Given the description of an element on the screen output the (x, y) to click on. 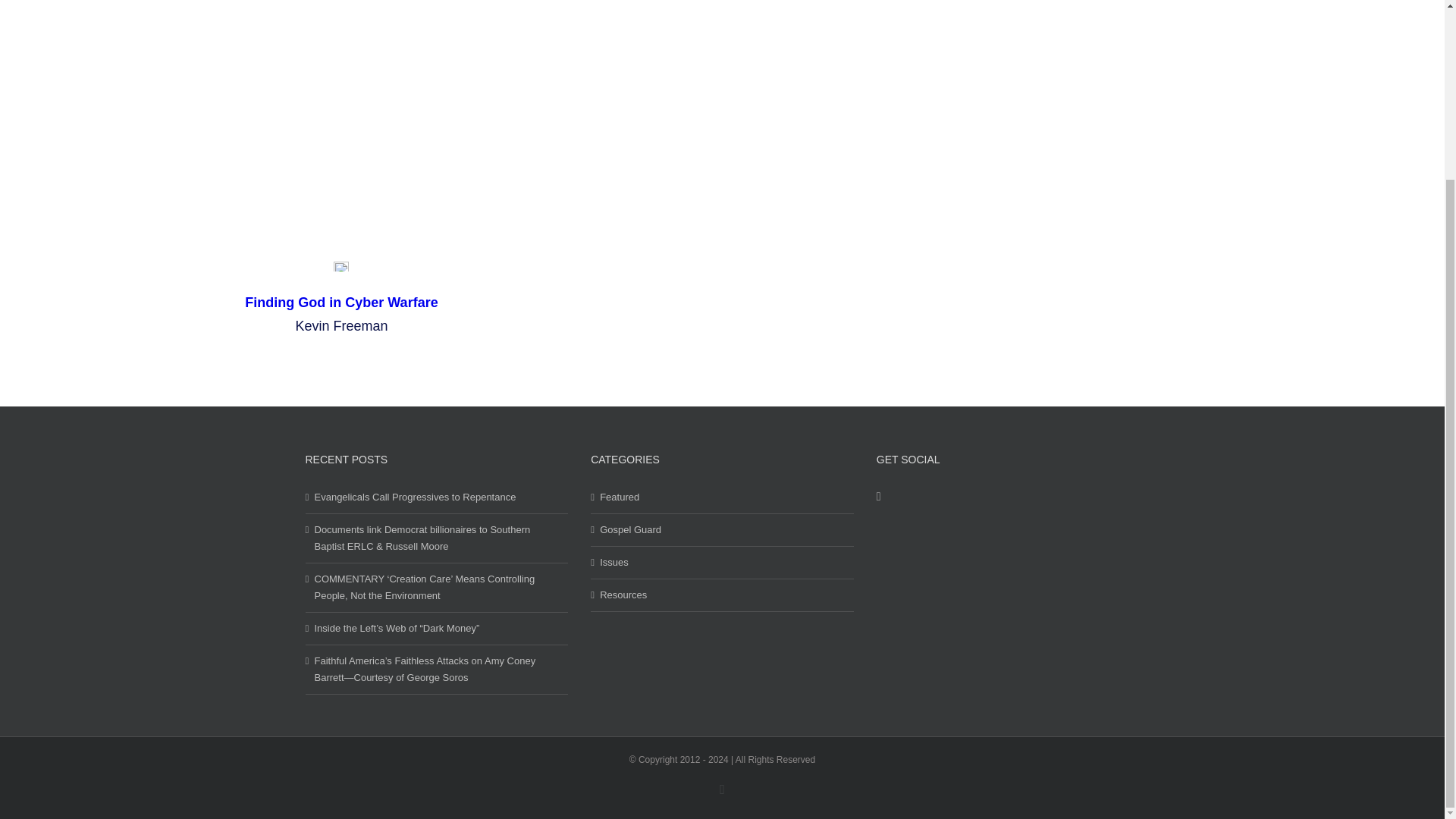
Evangelicals Call Progressives to Repentance (437, 497)
Finding God in Cyber Warfare (341, 302)
